Given the description of an element on the screen output the (x, y) to click on. 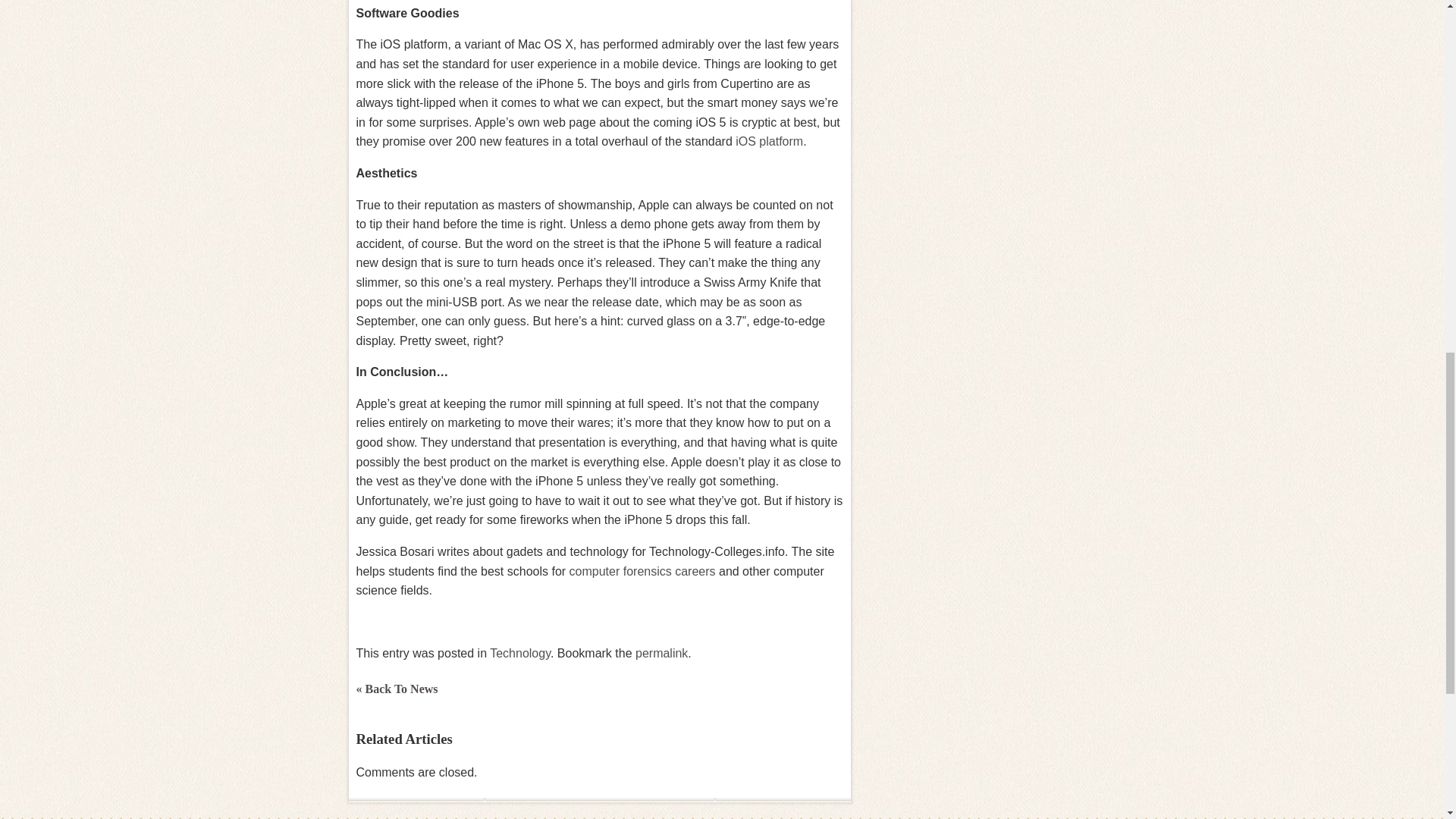
computer forensics careers (642, 571)
Technology (519, 653)
iOS platform (767, 141)
permalink (660, 653)
Software Development Careers (767, 141)
